Given the description of an element on the screen output the (x, y) to click on. 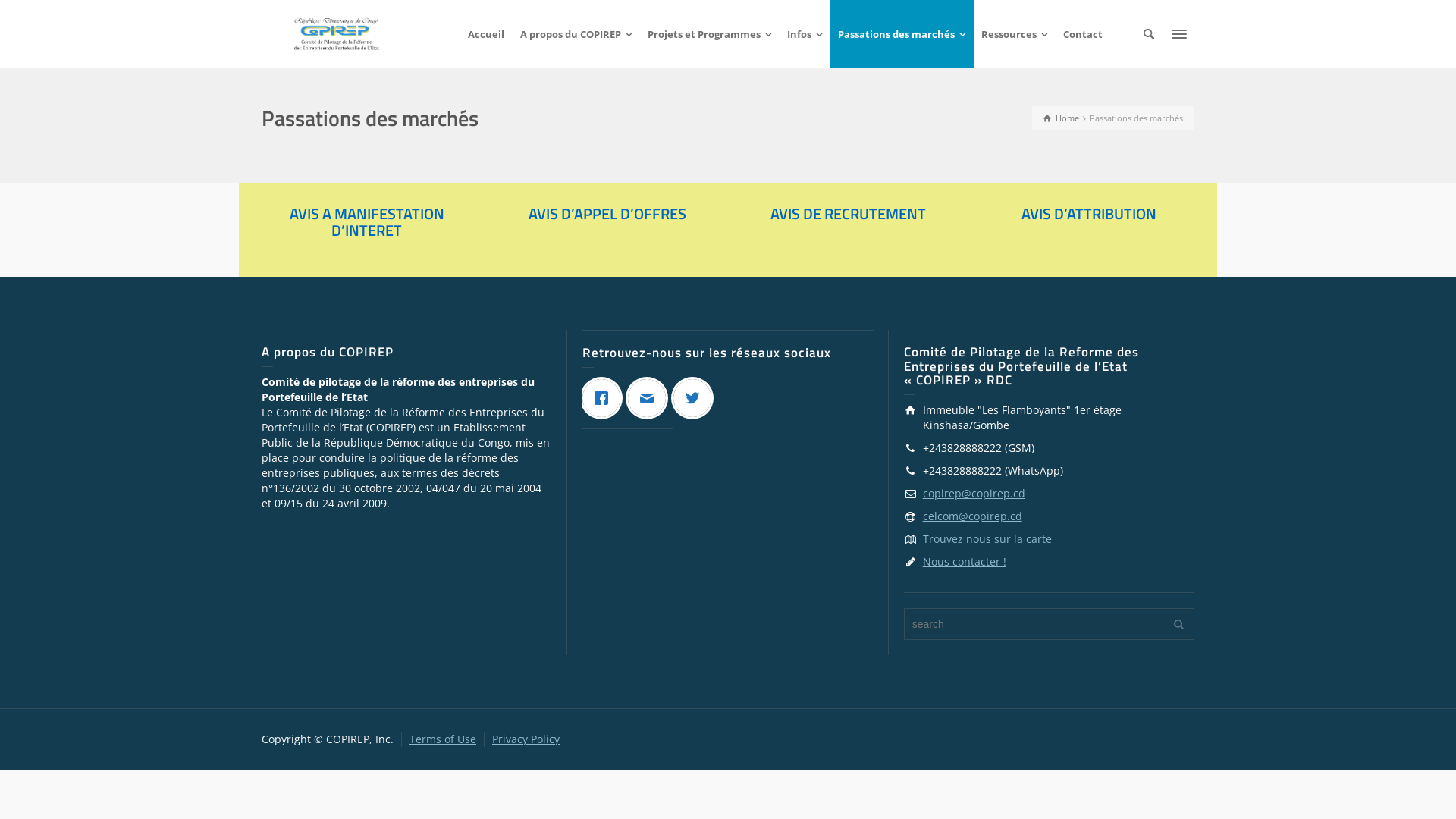
A propos du COPIREP Element type: text (576, 34)
Terms of Use Element type: text (442, 738)
Accueil Element type: text (486, 34)
copirep@copirep.cd Element type: text (973, 493)
Nous contacter ! Element type: text (964, 561)
Trouvez nous sur la carte Element type: text (986, 538)
Home Element type: text (1061, 117)
Ressources Element type: text (1014, 34)
AVIS DE RECRUTEMENT Element type: text (848, 213)
Contact Element type: text (1082, 34)
celcom@copirep.cd Element type: text (972, 515)
Privacy Policy Element type: text (525, 738)
Infos Element type: text (804, 34)
Projets et Programmes Element type: text (709, 34)
Search Element type: hover (1148, 34)
